Given the description of an element on the screen output the (x, y) to click on. 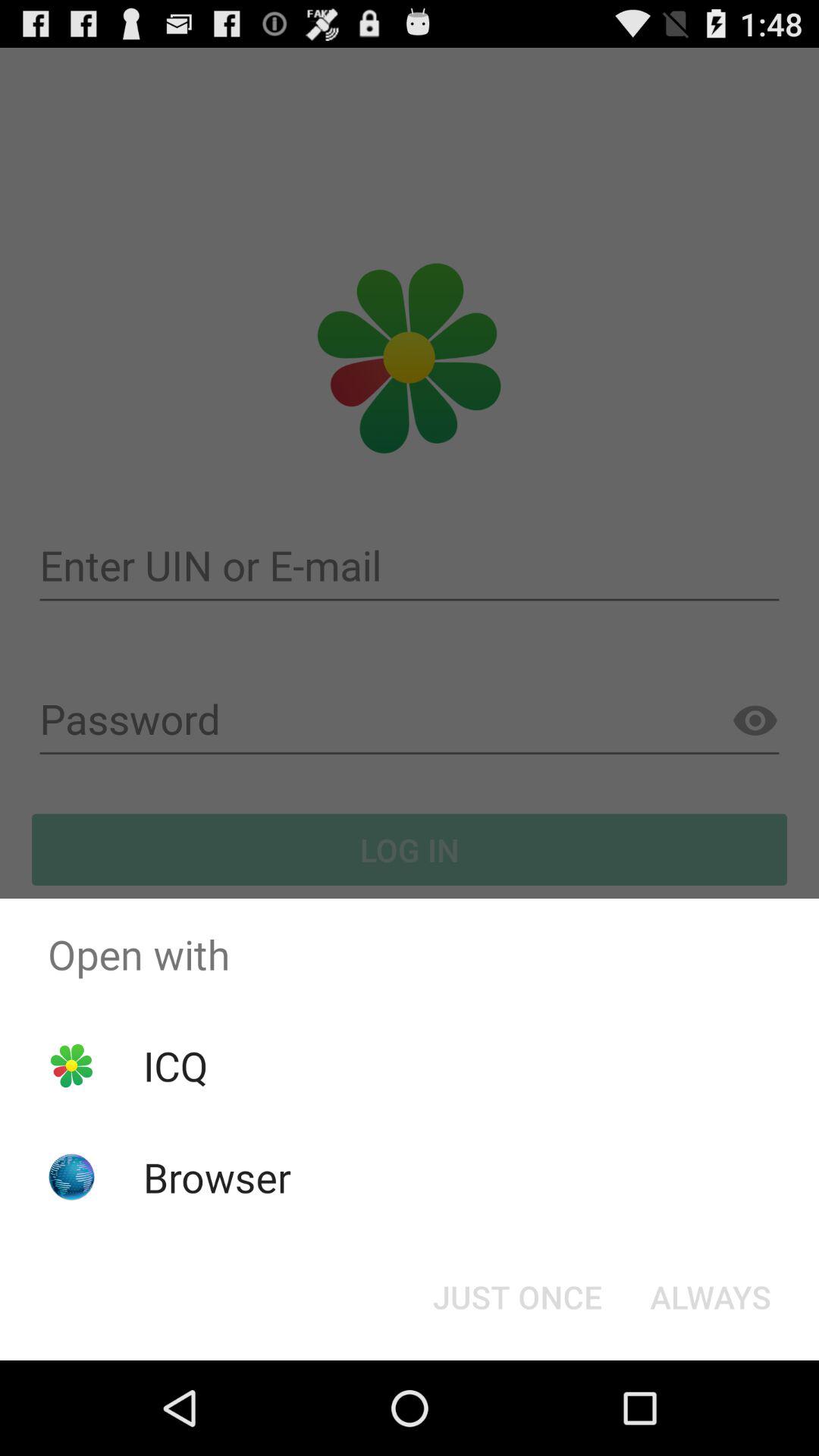
select icq icon (175, 1065)
